Given the description of an element on the screen output the (x, y) to click on. 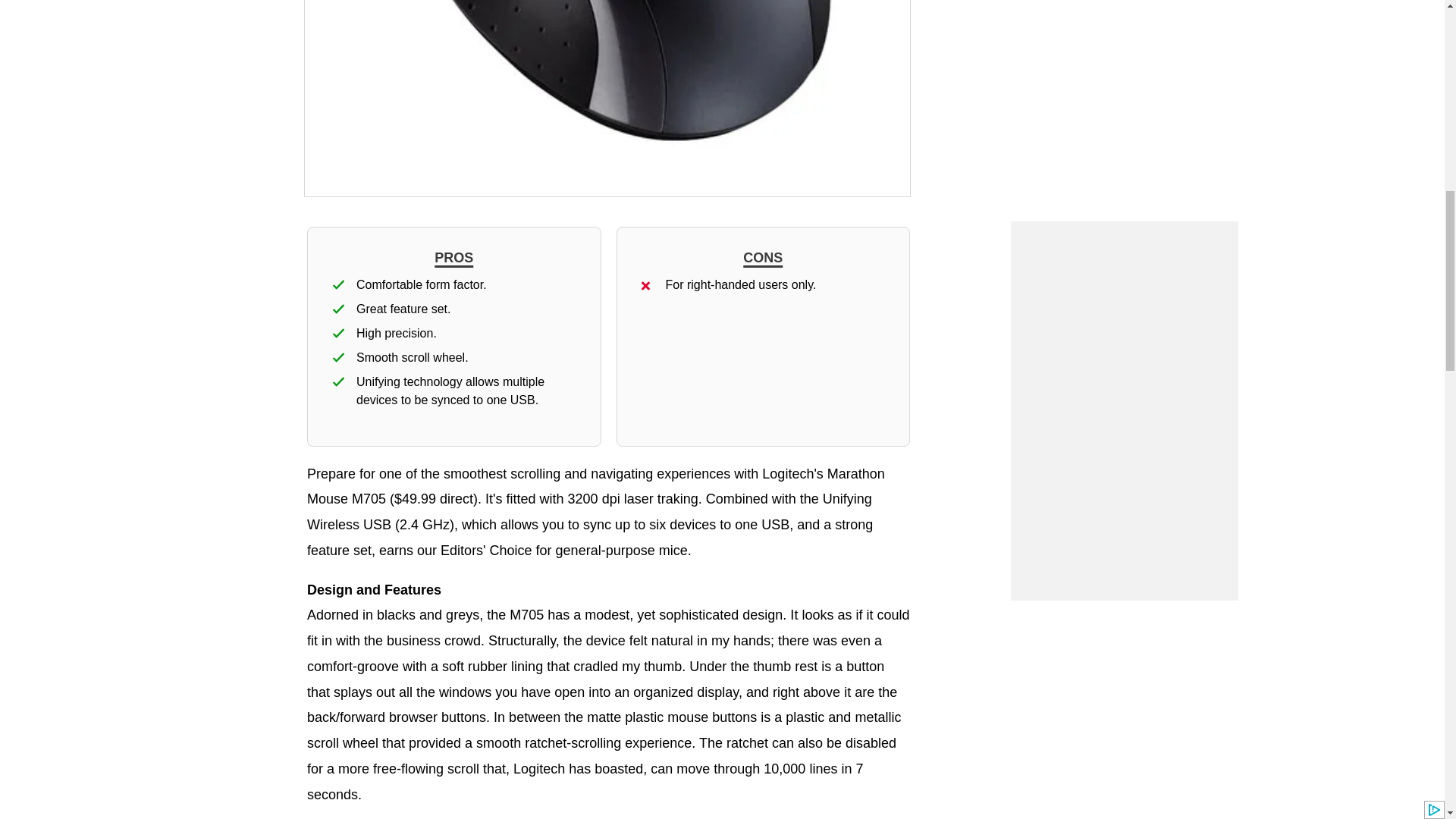
 - Logitech Marathon Mouse M705 (606, 98)
